Given the description of an element on the screen output the (x, y) to click on. 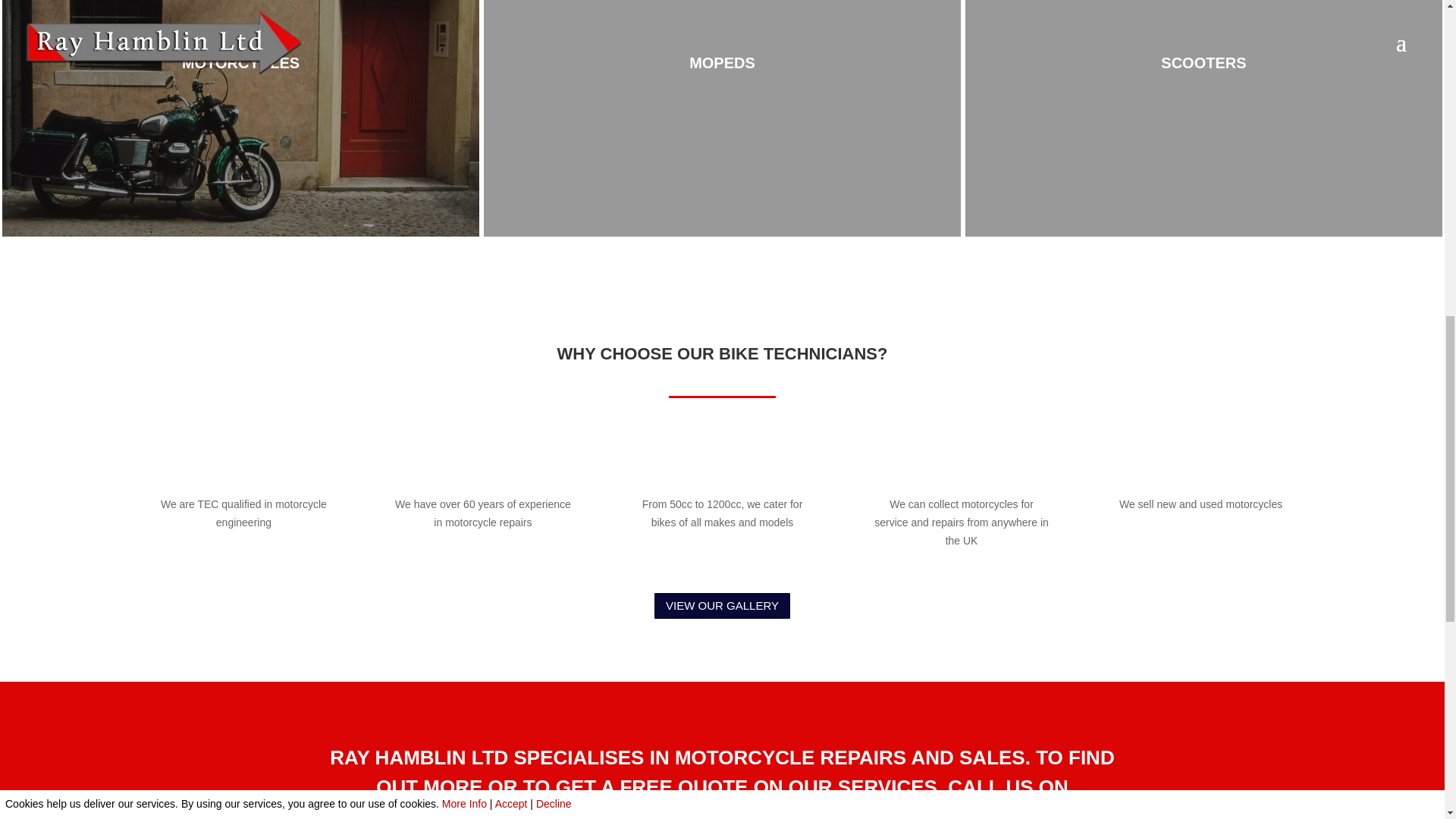
01427 612 887 (722, 812)
VIEW OUR GALLERY (722, 605)
